Given the description of an element on the screen output the (x, y) to click on. 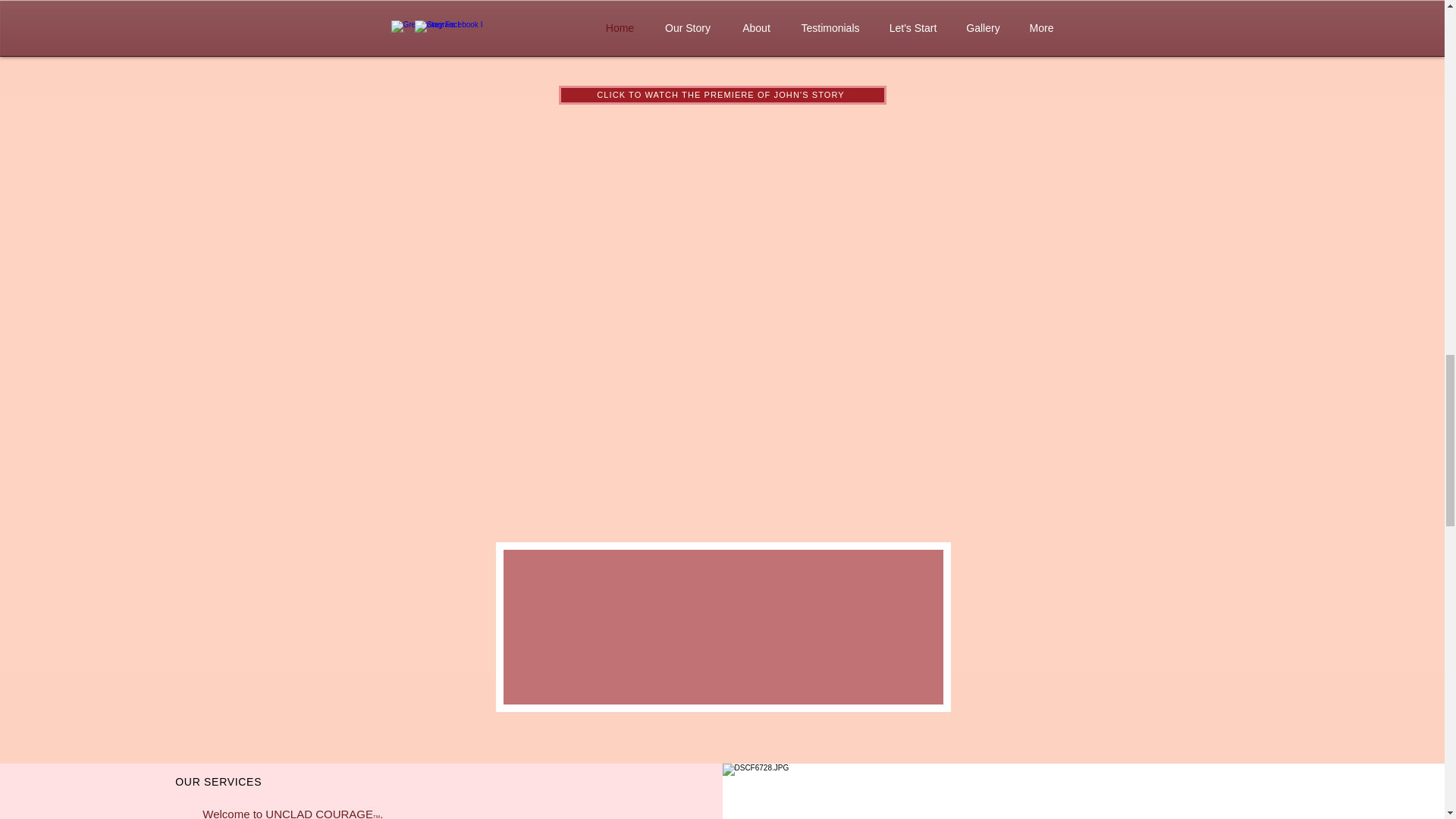
CLICK TO WATCH THE PREMIERE OF JOHN'S STORY (721, 94)
